Given the description of an element on the screen output the (x, y) to click on. 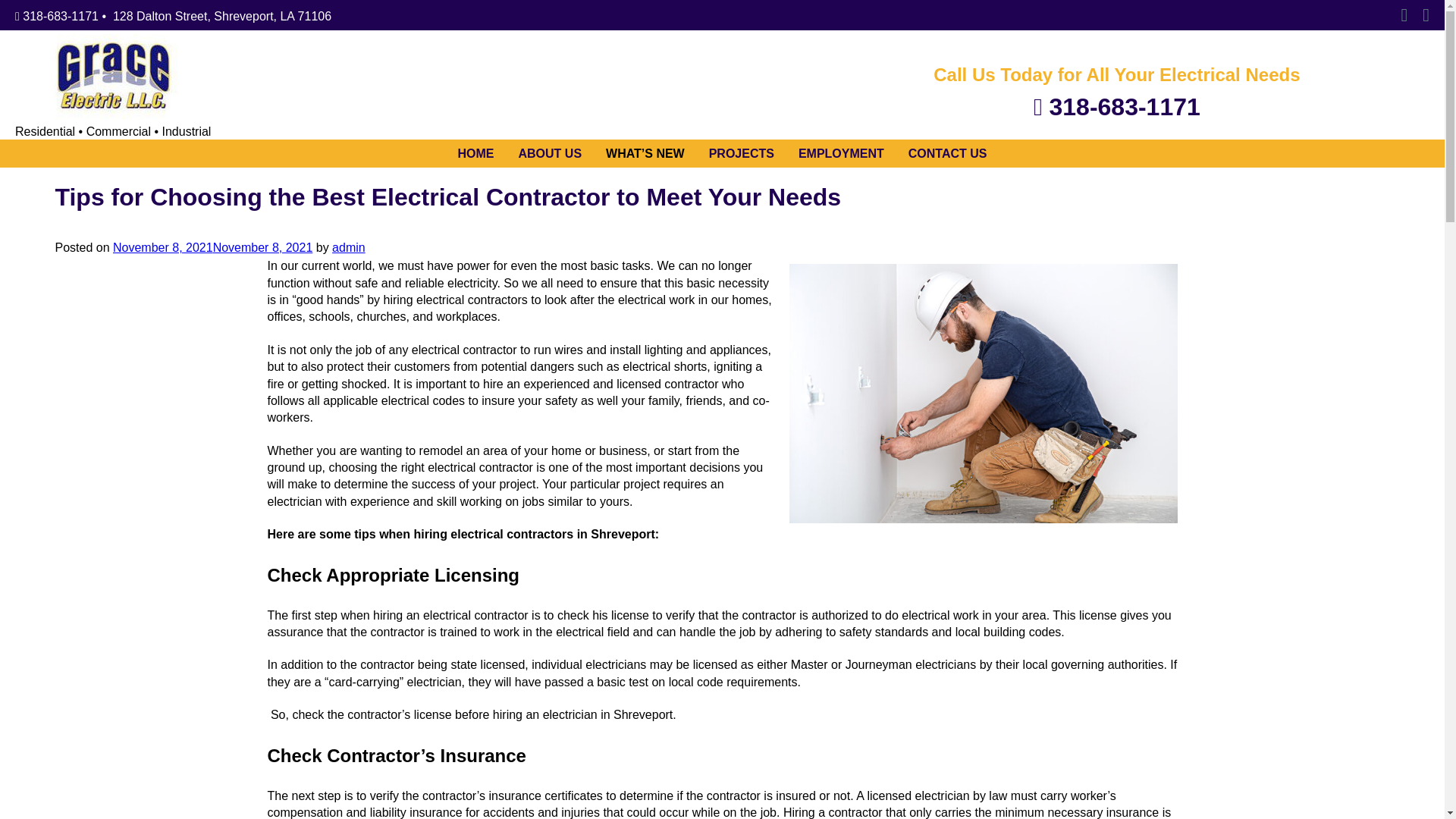
November 8, 2021November 8, 2021 (213, 246)
admin (348, 246)
128 Dalton Street, Shreveport, LA 71106 (222, 15)
HOME (475, 153)
ABOUT US (549, 153)
 318-683-1171 (1116, 106)
EMPLOYMENT (841, 153)
CONTACT US (947, 153)
 318-683-1171 (56, 15)
